Given the description of an element on the screen output the (x, y) to click on. 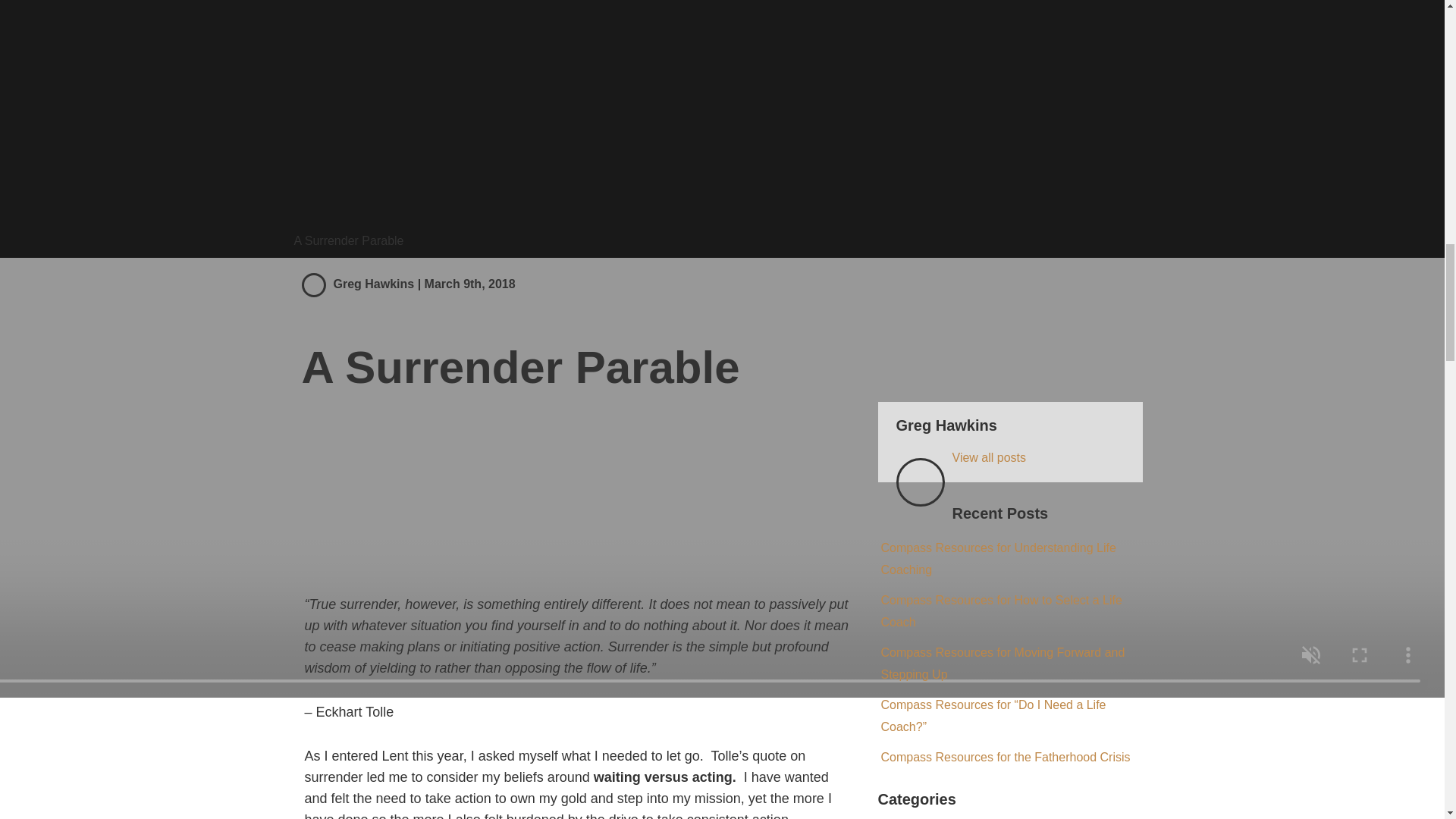
Compass Resources for Understanding Life Coaching (998, 558)
Posts by Greg Hawkins (373, 283)
Compass Resources for Moving Forward and Stepping Up (1002, 663)
View all posts (989, 457)
Greg Hawkins (373, 283)
Compass Resources for How to Select a Life Coach (1001, 610)
Compass Resources for the Fatherhood Crisis (1005, 757)
